Given the description of an element on the screen output the (x, y) to click on. 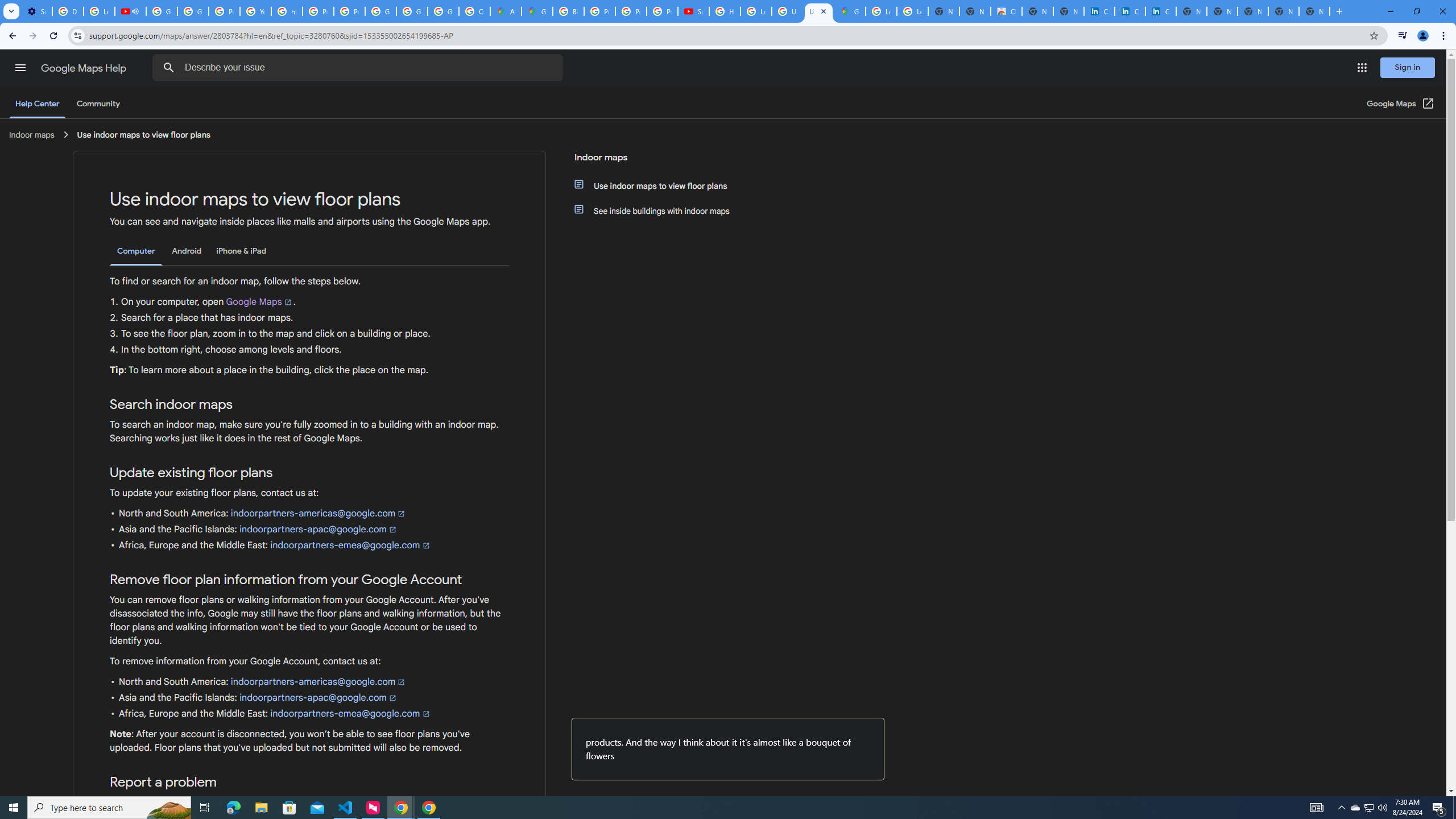
Privacy Help Center - Policies Help (631, 11)
Blogger Policies and Guidelines - Transparency Center (568, 11)
Computer (136, 251)
Use indoor maps to view floor plans (661, 185)
